Given the description of an element on the screen output the (x, y) to click on. 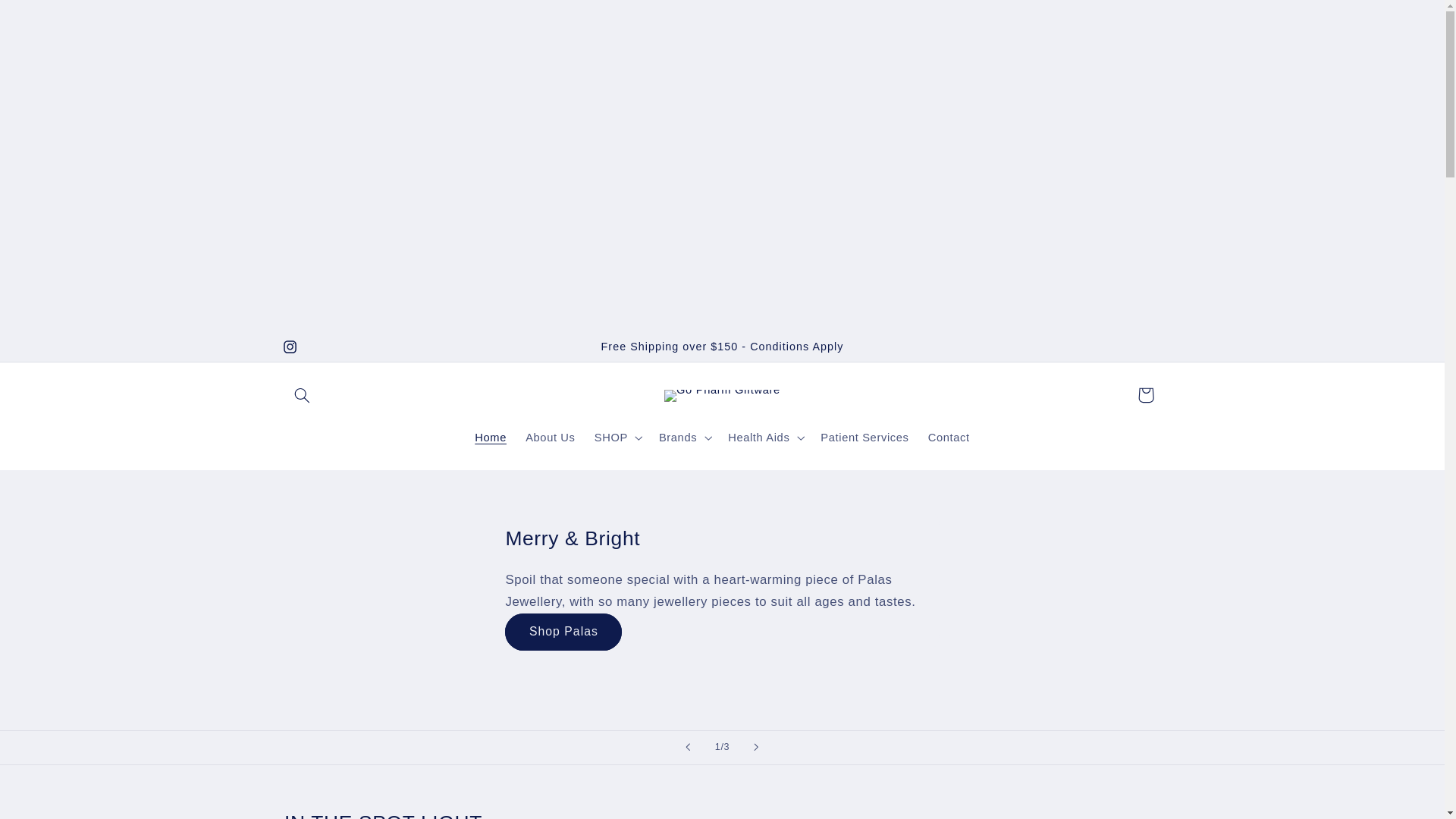
Shop Palas Element type: text (563, 631)
About Us Element type: text (550, 437)
Cart Element type: text (1145, 394)
Contact Element type: text (948, 437)
Instagram Element type: text (289, 346)
Home Element type: text (490, 437)
Patient Services Element type: text (864, 437)
